Given the description of an element on the screen output the (x, y) to click on. 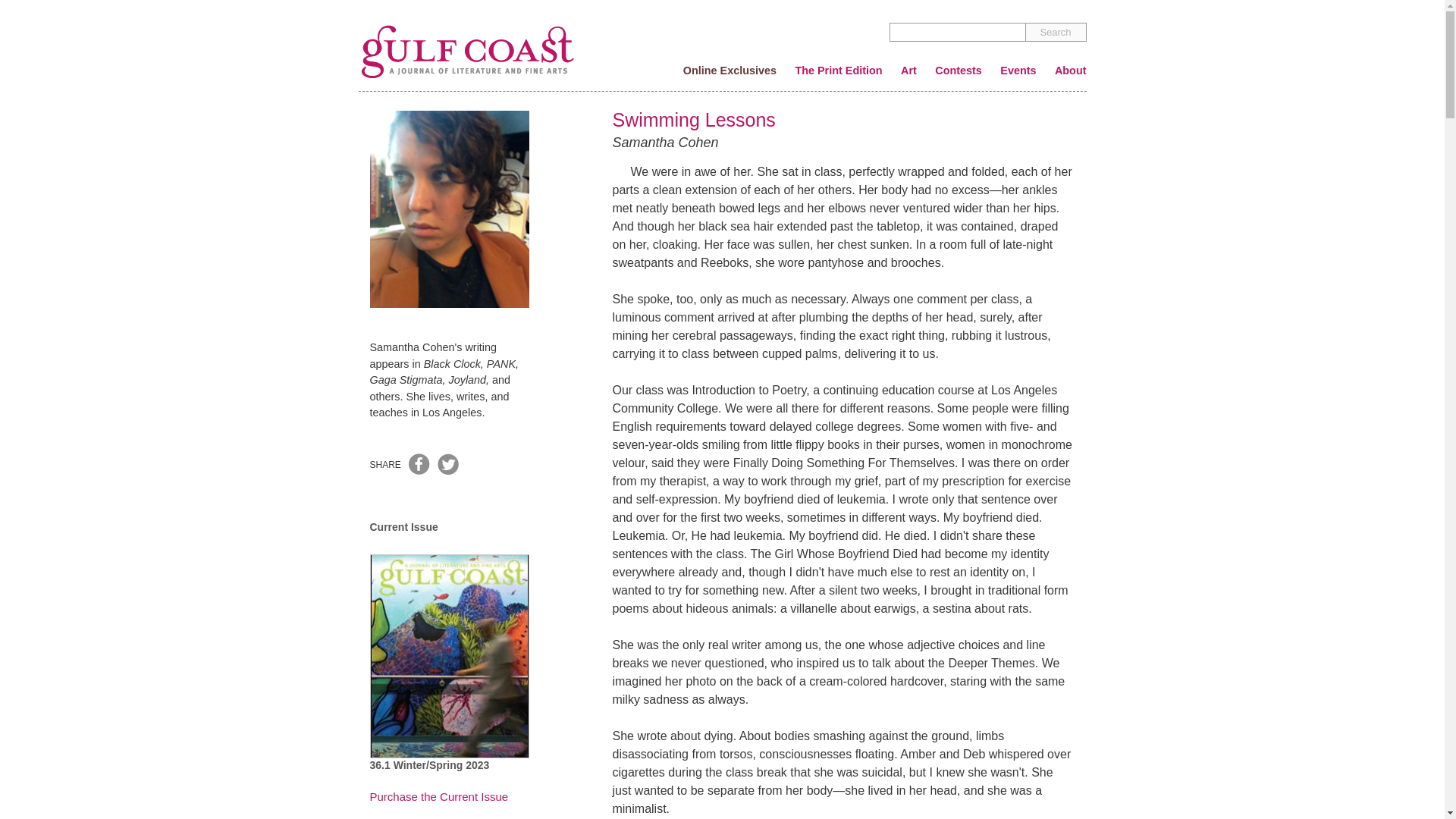
Search (1055, 31)
Search (1055, 31)
